Given the description of an element on the screen output the (x, y) to click on. 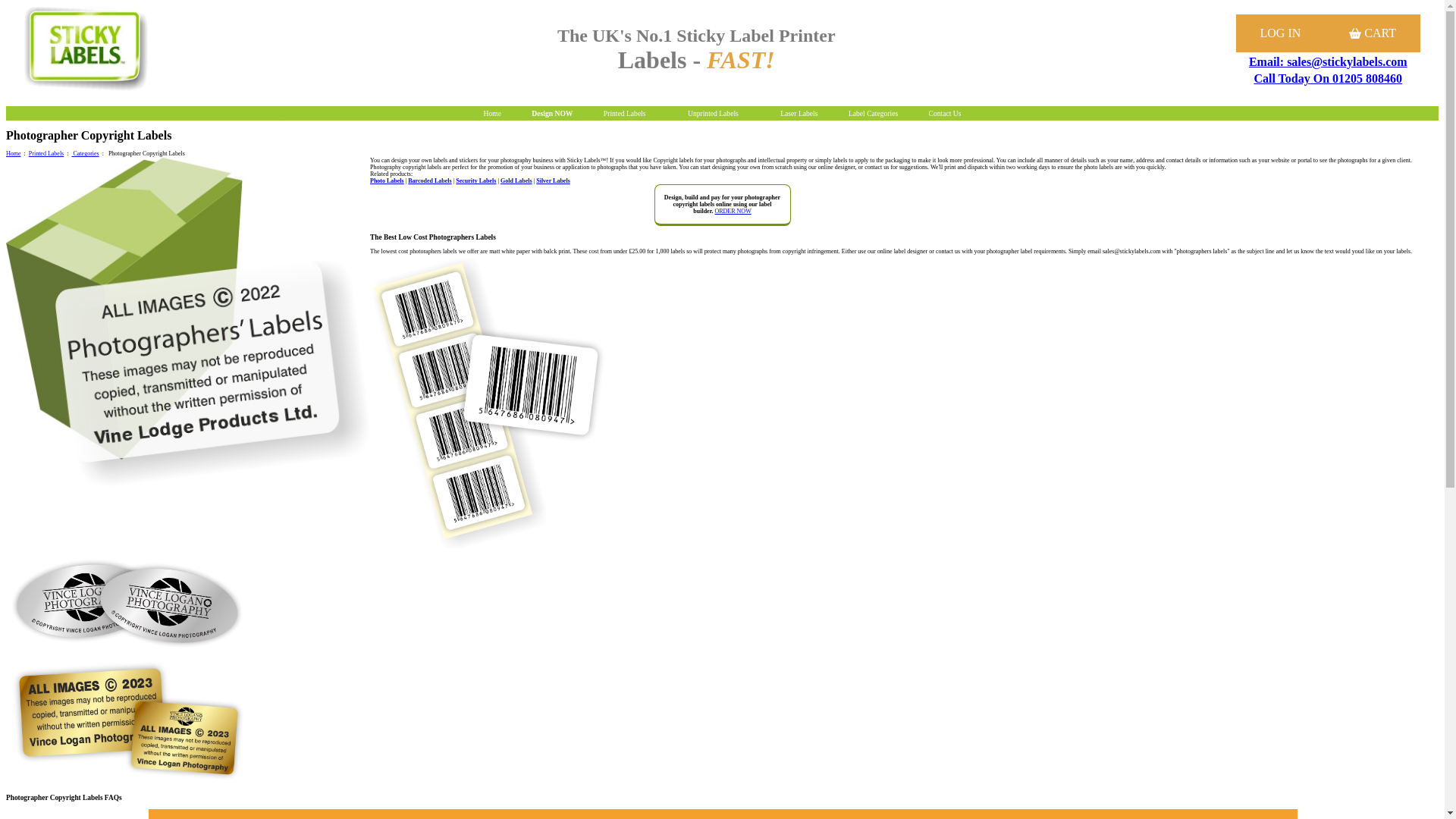
Photographer Copyright Labels (187, 321)
Call Today On 01205 808460 (1327, 78)
LOG IN (1280, 33)
CART (1372, 33)
